Given the description of an element on the screen output the (x, y) to click on. 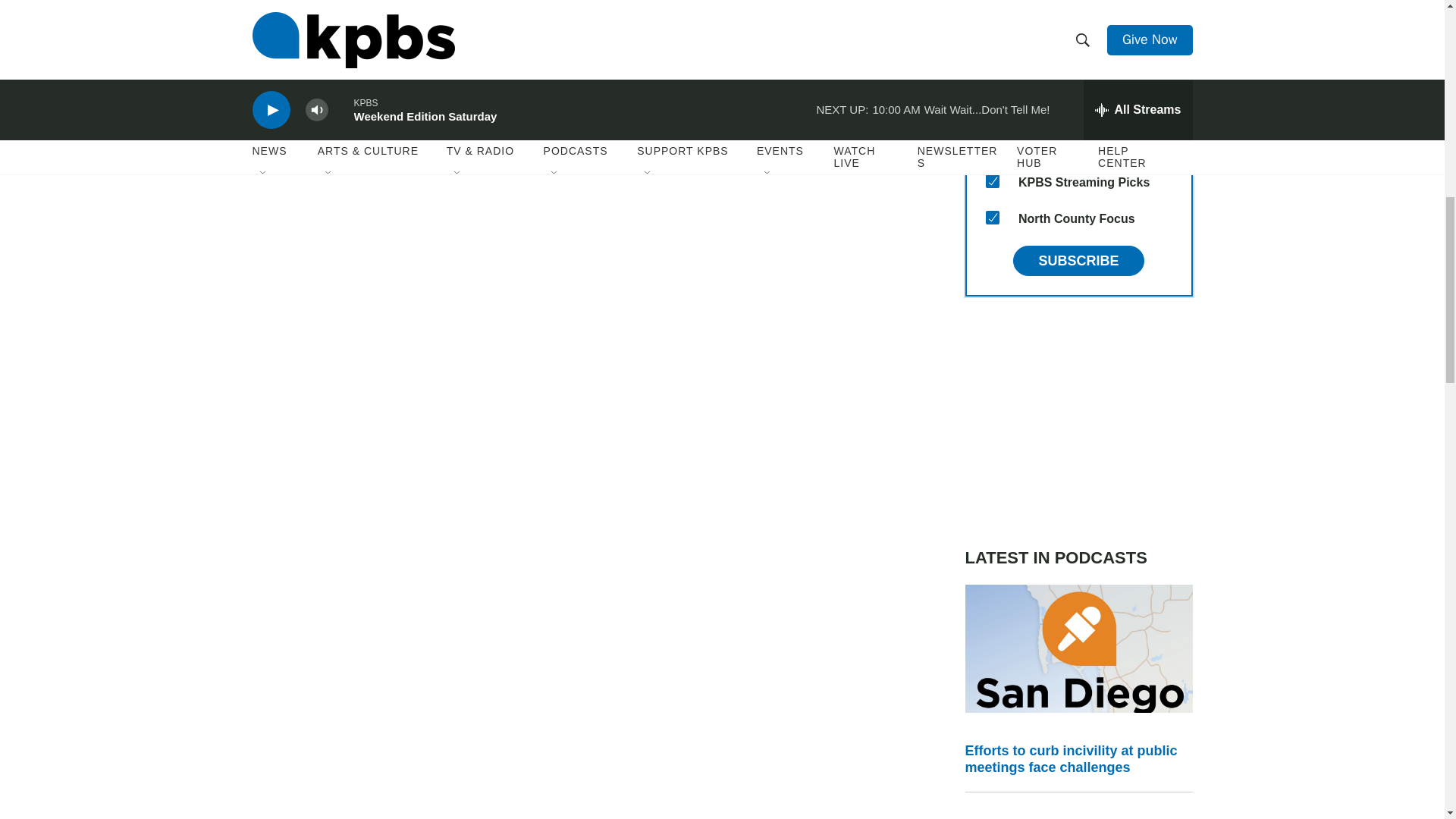
8 (991, 181)
2 (991, 108)
6 (991, 71)
4 (991, 2)
1 (991, 144)
5 (991, 35)
15 (991, 217)
